Given the description of an element on the screen output the (x, y) to click on. 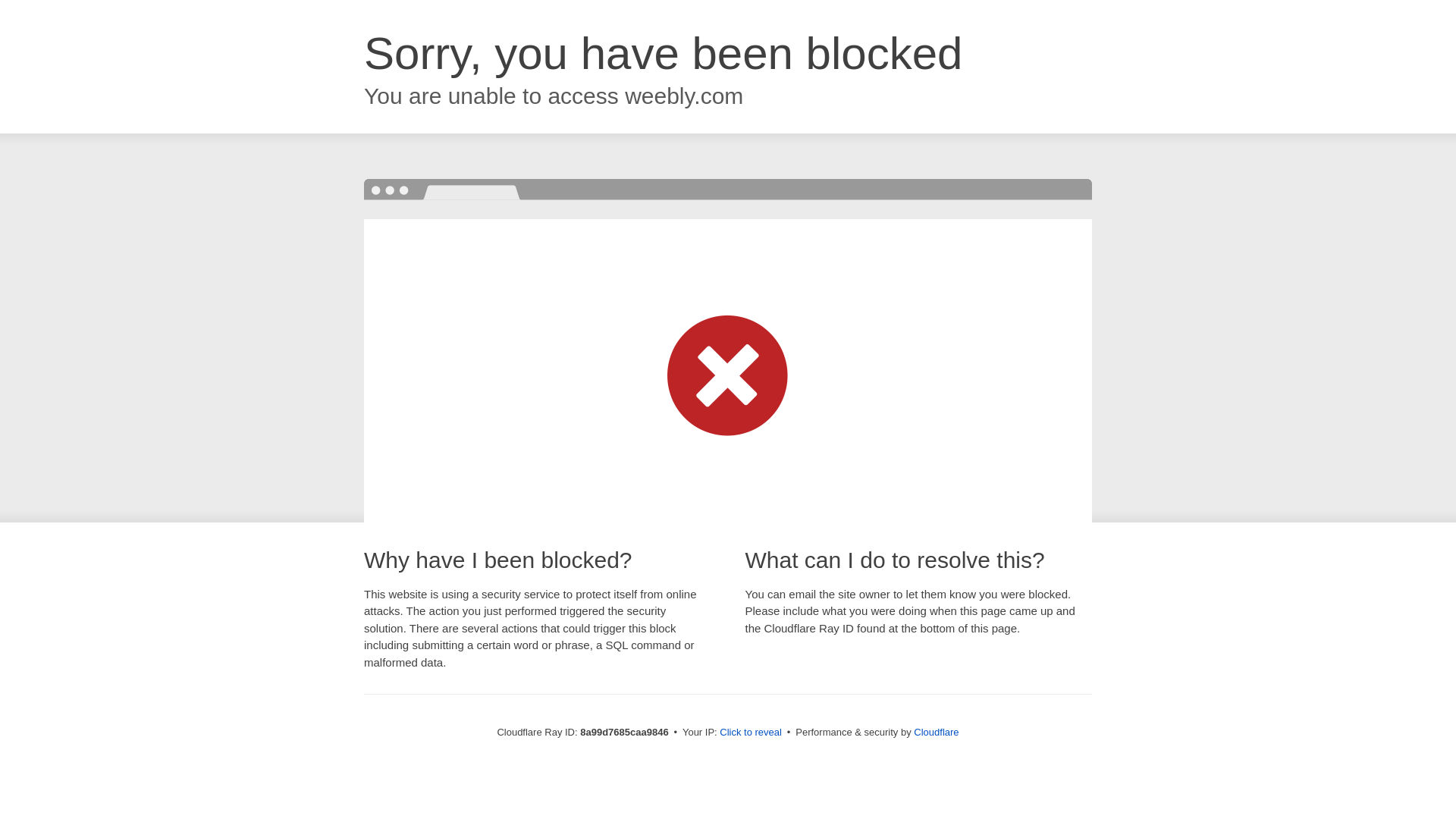
Click to reveal (750, 732)
Cloudflare (936, 731)
